Given the description of an element on the screen output the (x, y) to click on. 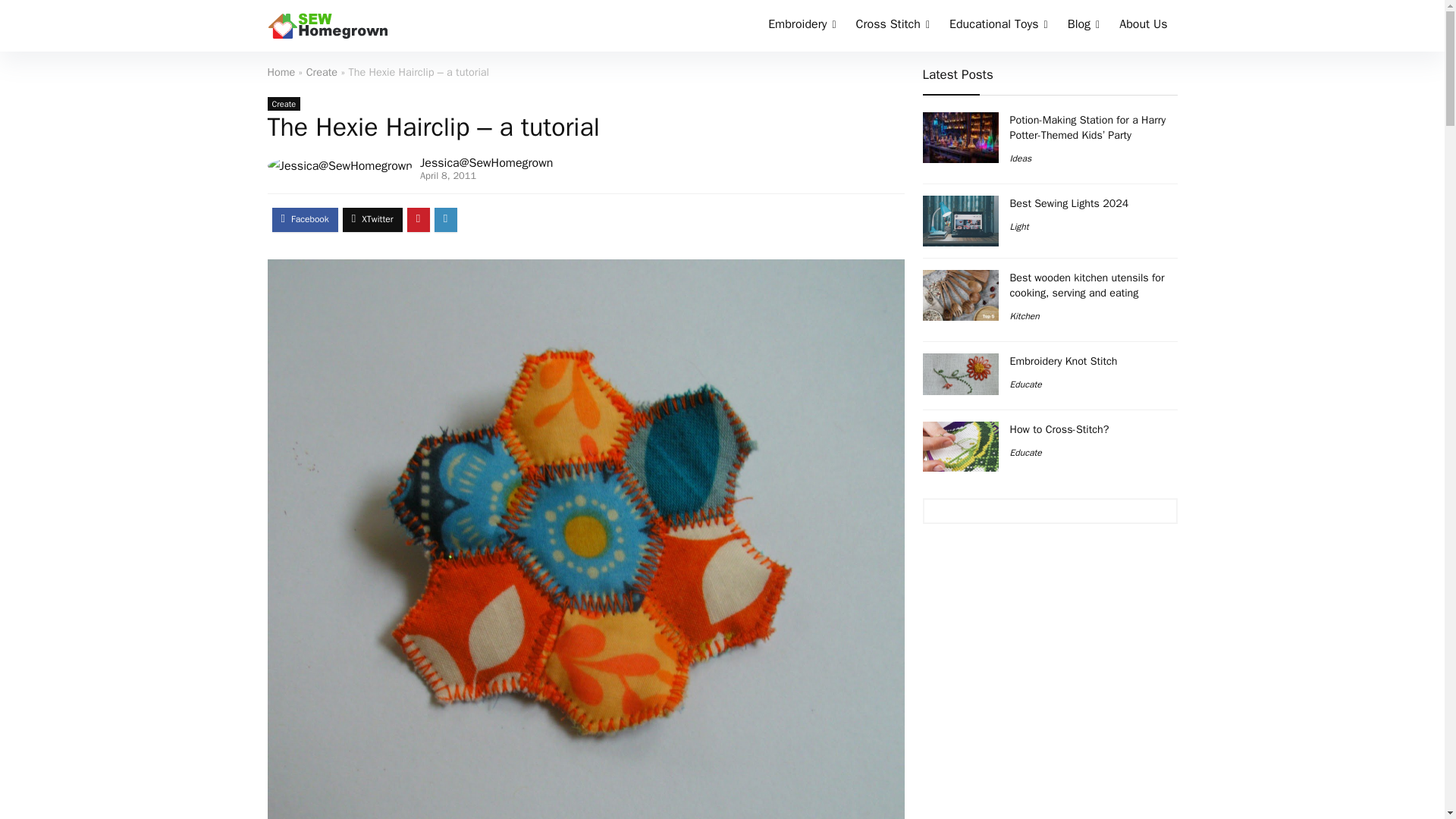
Create (282, 103)
Educational Toys (998, 25)
Embroidery (801, 25)
Create (321, 71)
About Us (1142, 25)
Cross Stitch (892, 25)
Blog (1083, 25)
Home (280, 71)
View all posts in Create (282, 103)
